Given the description of an element on the screen output the (x, y) to click on. 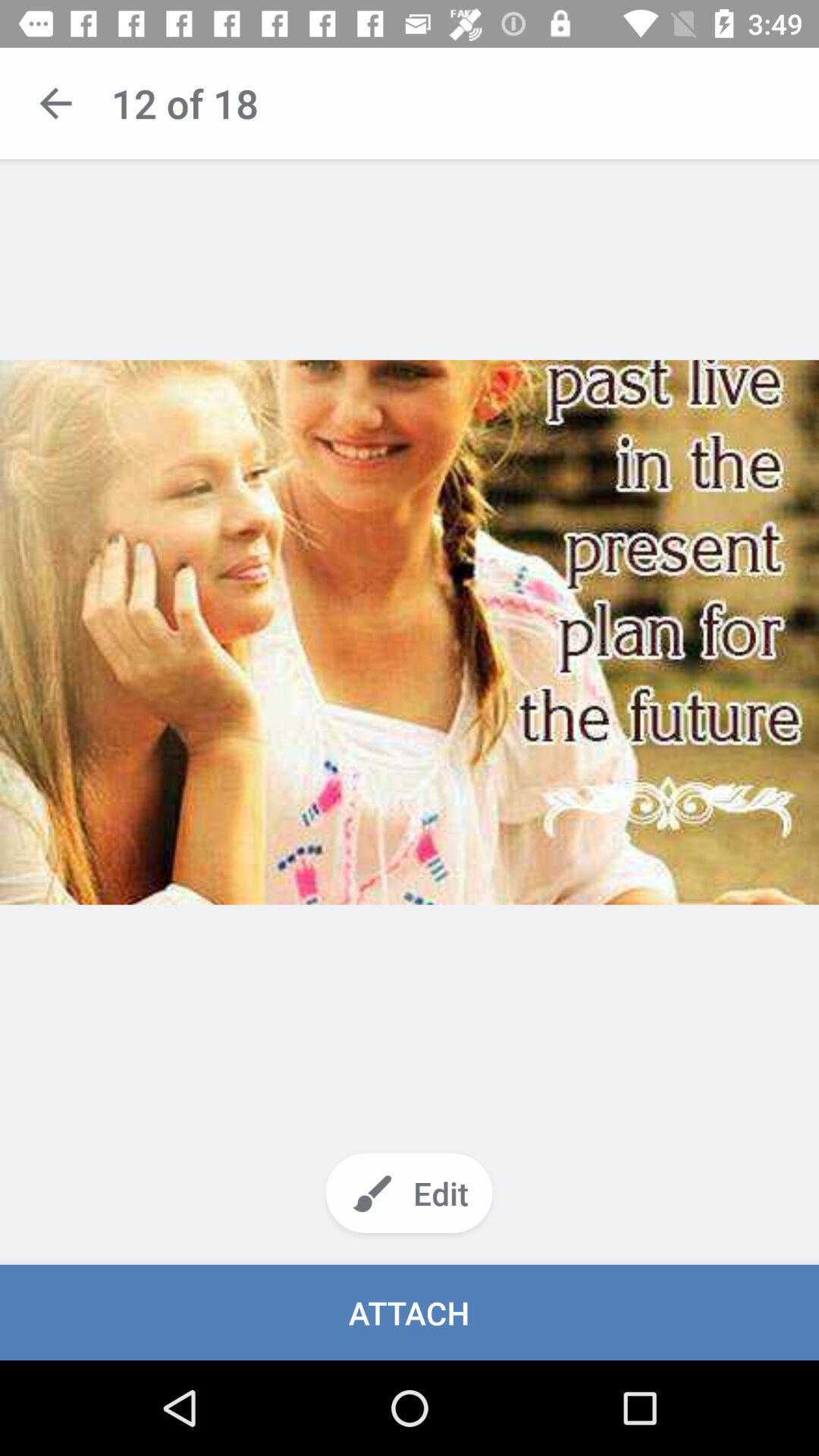
click the item next to the 12 of 18 item (55, 103)
